Given the description of an element on the screen output the (x, y) to click on. 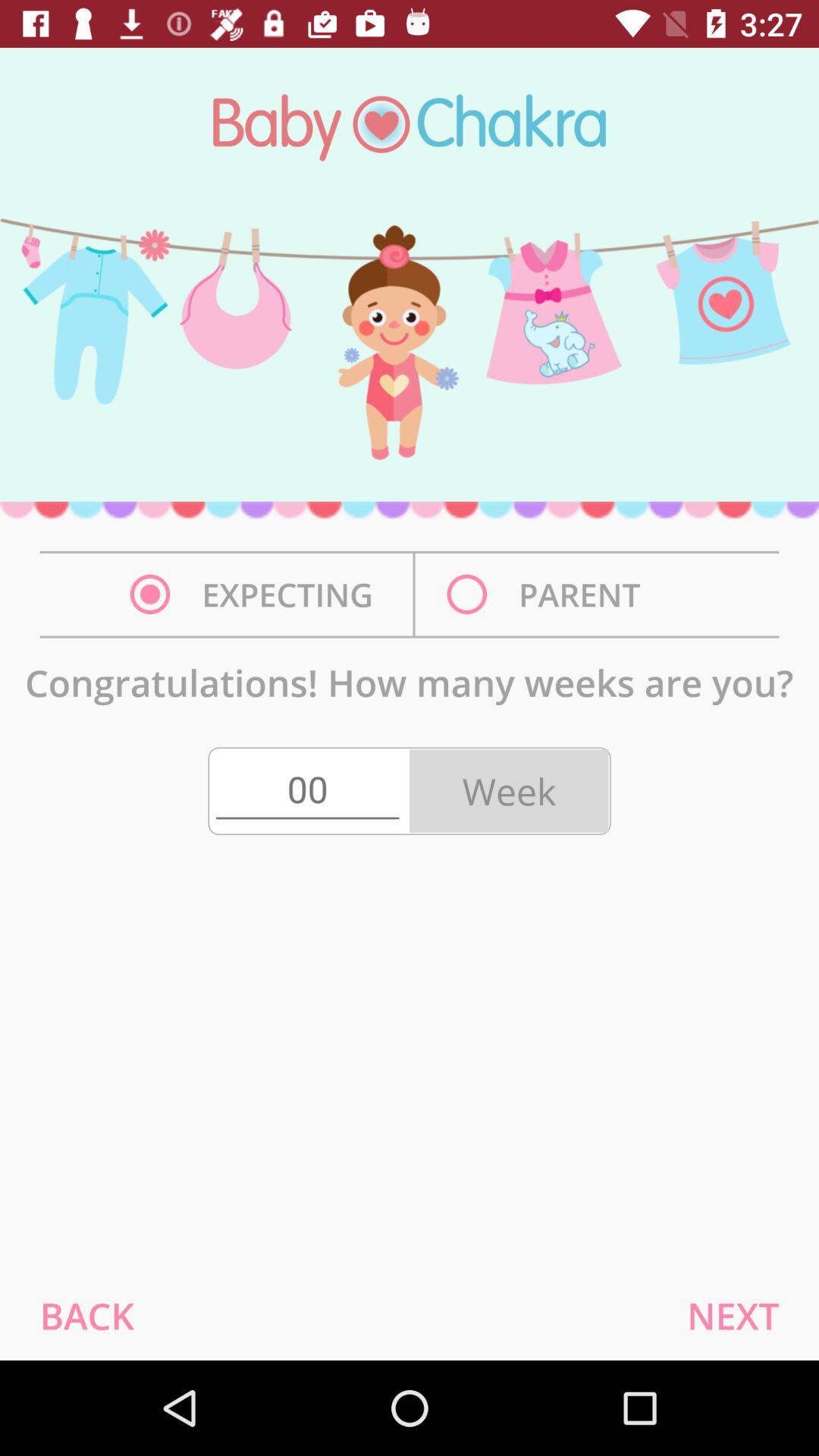
choose item to the left of week icon (307, 790)
